Given the description of an element on the screen output the (x, y) to click on. 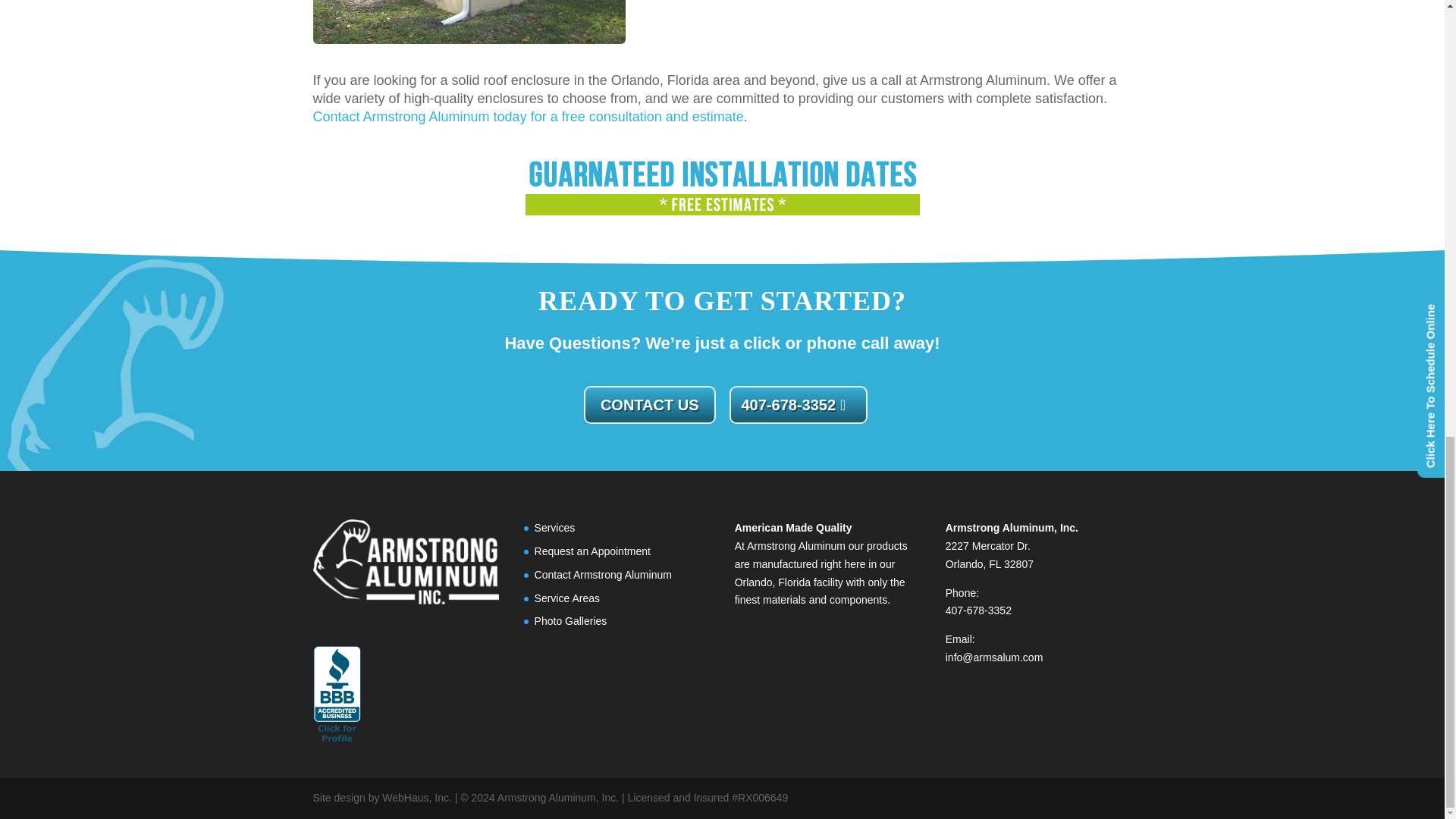
SCREEN ON BLOCK WALL PRIME DOOR (469, 22)
Service Areas (566, 598)
Services (554, 527)
Contact Armstrong Aluminum (602, 574)
GuaranteedDates-1 (721, 189)
Request an Appointment (592, 551)
407-678-3352 (798, 403)
CONTACT US (649, 403)
